Given the description of an element on the screen output the (x, y) to click on. 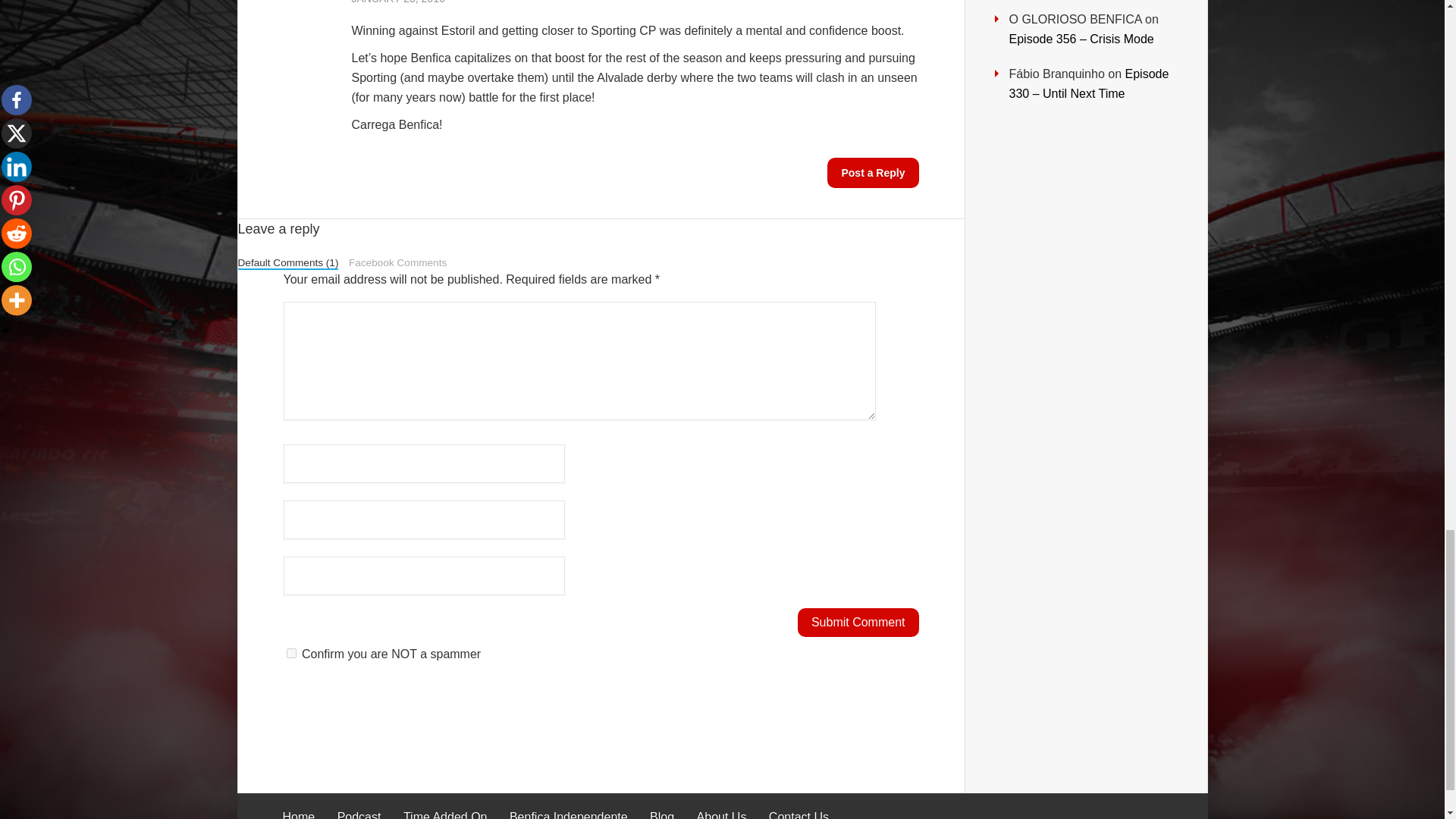
Submit Comment (857, 622)
on (291, 653)
